Given the description of an element on the screen output the (x, y) to click on. 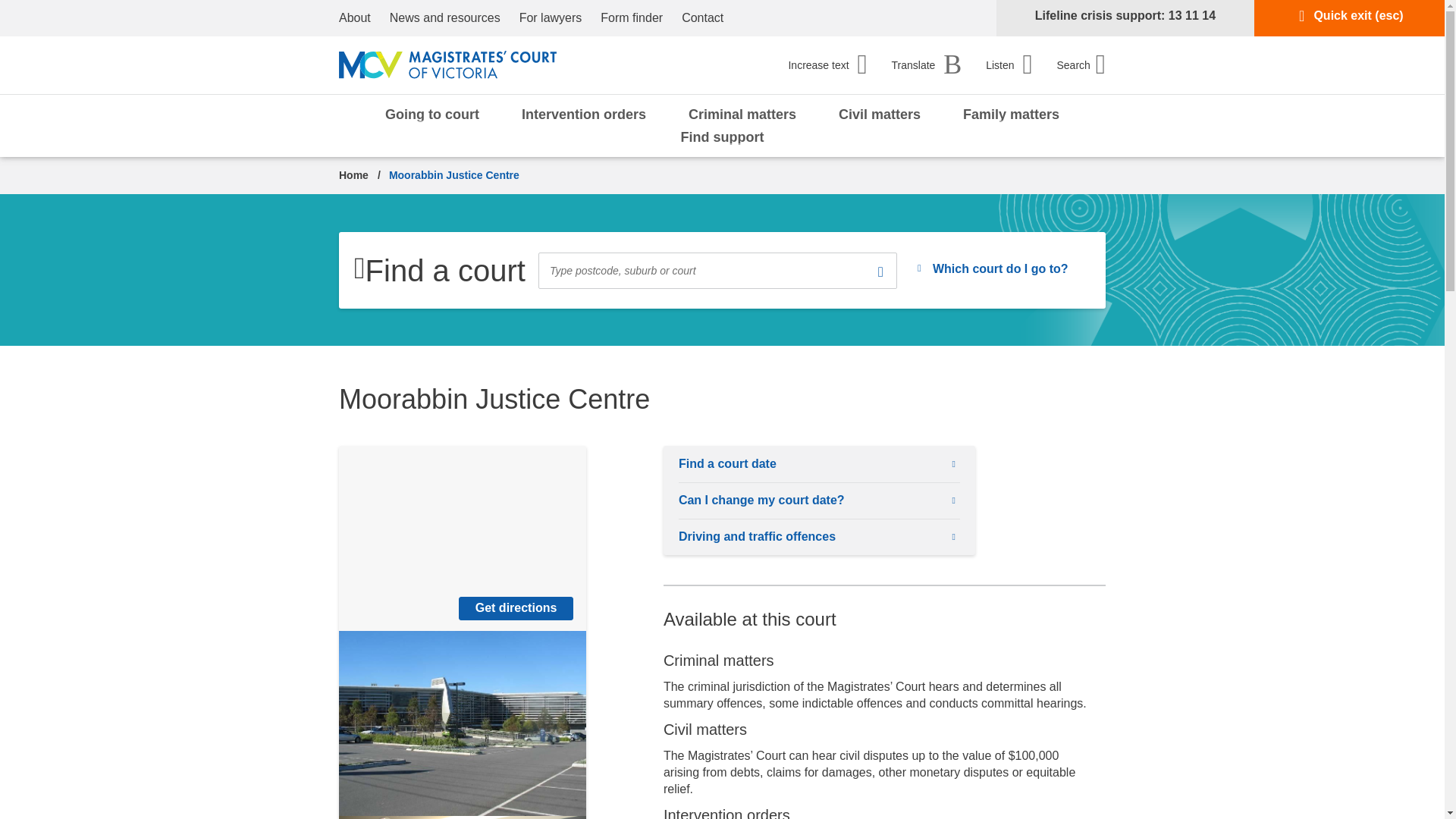
Criminal matters (742, 114)
Going to court (432, 114)
Form finder (1008, 64)
Search (630, 18)
For lawyers (1081, 64)
Intervention orders (826, 67)
About (550, 18)
